Given the description of an element on the screen output the (x, y) to click on. 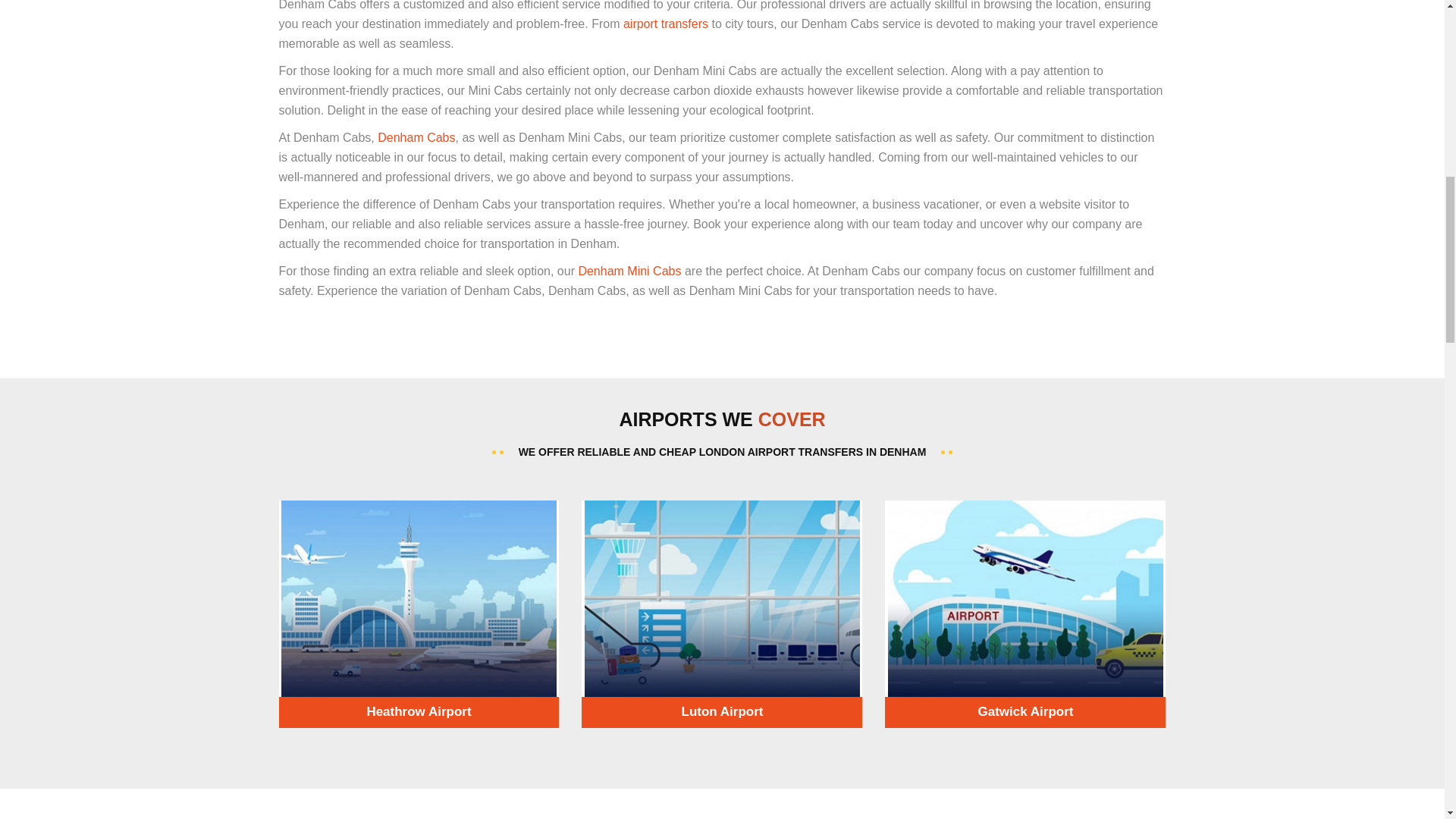
Denham Mini Cabs (629, 270)
airport transfers (665, 23)
Denham Cabs (415, 137)
